Given the description of an element on the screen output the (x, y) to click on. 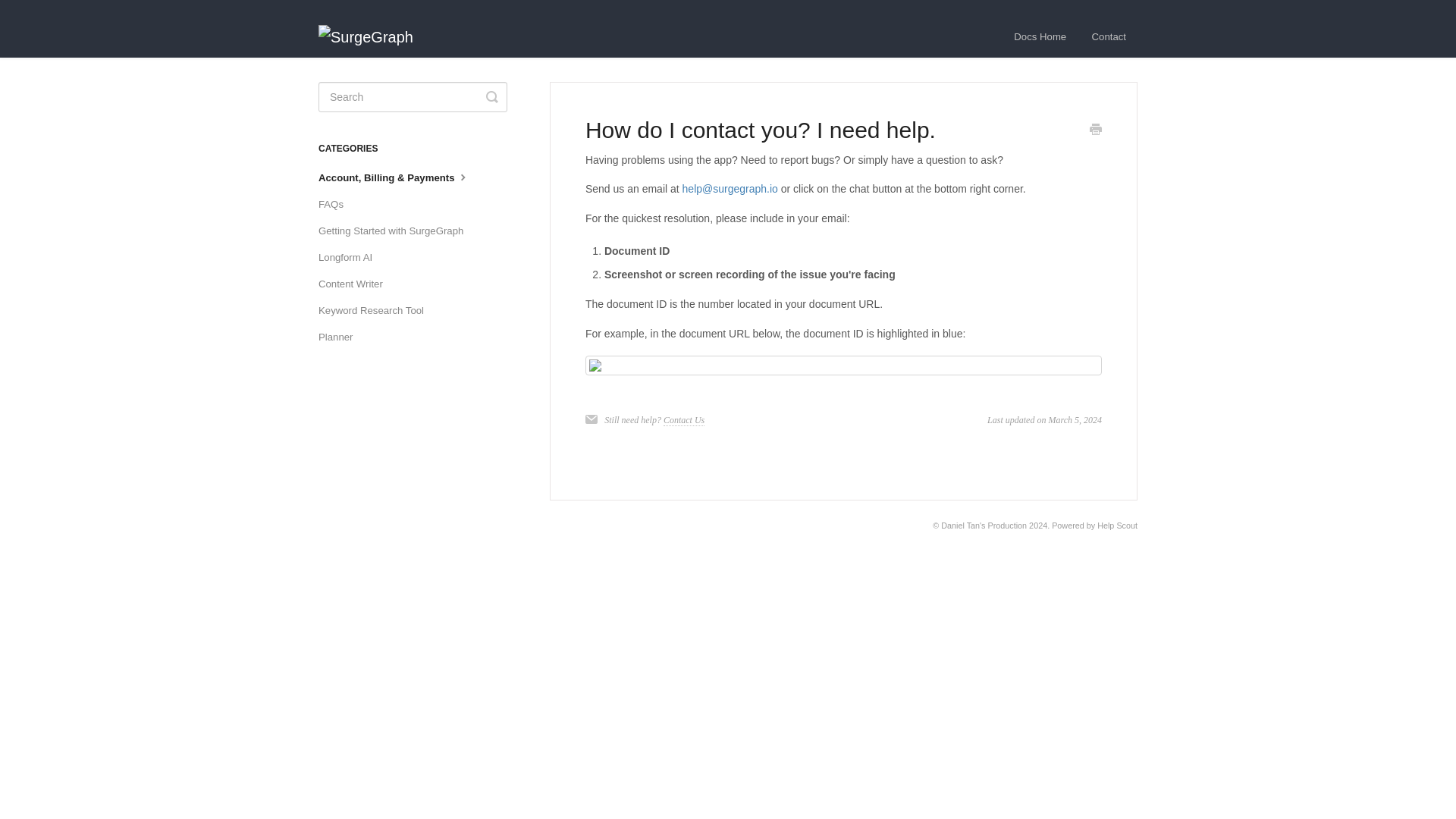
Getting Started with SurgeGraph (396, 231)
Docs Home (1040, 36)
Help Scout (1117, 524)
Contact (1108, 36)
search-query (412, 96)
Contact Us (683, 419)
Daniel Tan's Production (983, 524)
FAQs (336, 204)
Longform AI (351, 257)
Content Writer (356, 283)
